Given the description of an element on the screen output the (x, y) to click on. 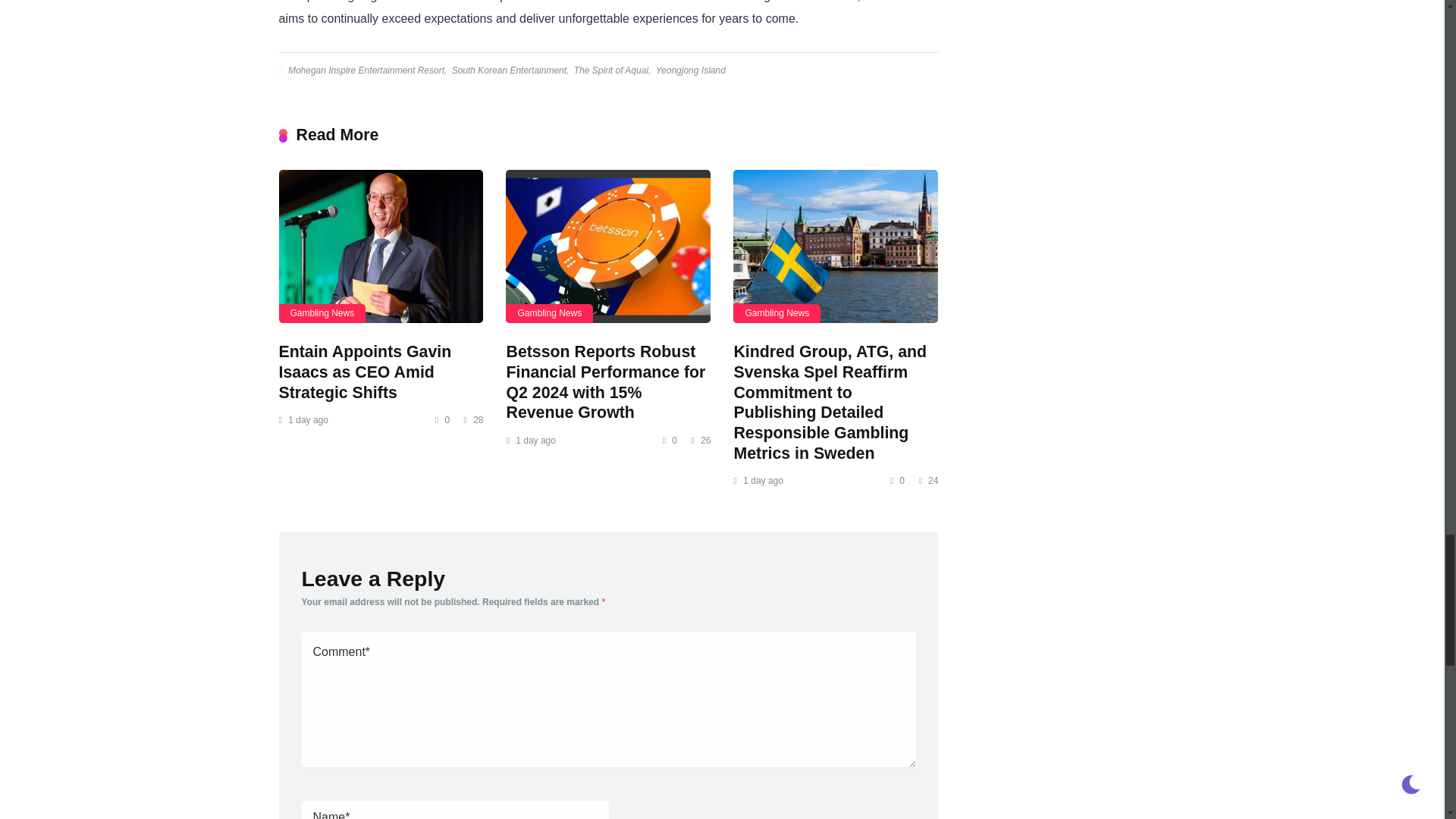
Yeongjong Island (689, 70)
Gambling News (777, 312)
Entain Appoints Gavin Isaacs as CEO Amid Strategic Shifts (381, 246)
South Korean Entertainment (507, 70)
The Spirit of Aquai (609, 70)
Gambling News (322, 312)
Entain Appoints Gavin Isaacs as CEO Amid Strategic Shifts (365, 372)
Gambling News (548, 312)
Mohegan Inspire Entertainment Resort (364, 70)
Entain Appoints Gavin Isaacs as CEO Amid Strategic Shifts (365, 372)
